Given the description of an element on the screen output the (x, y) to click on. 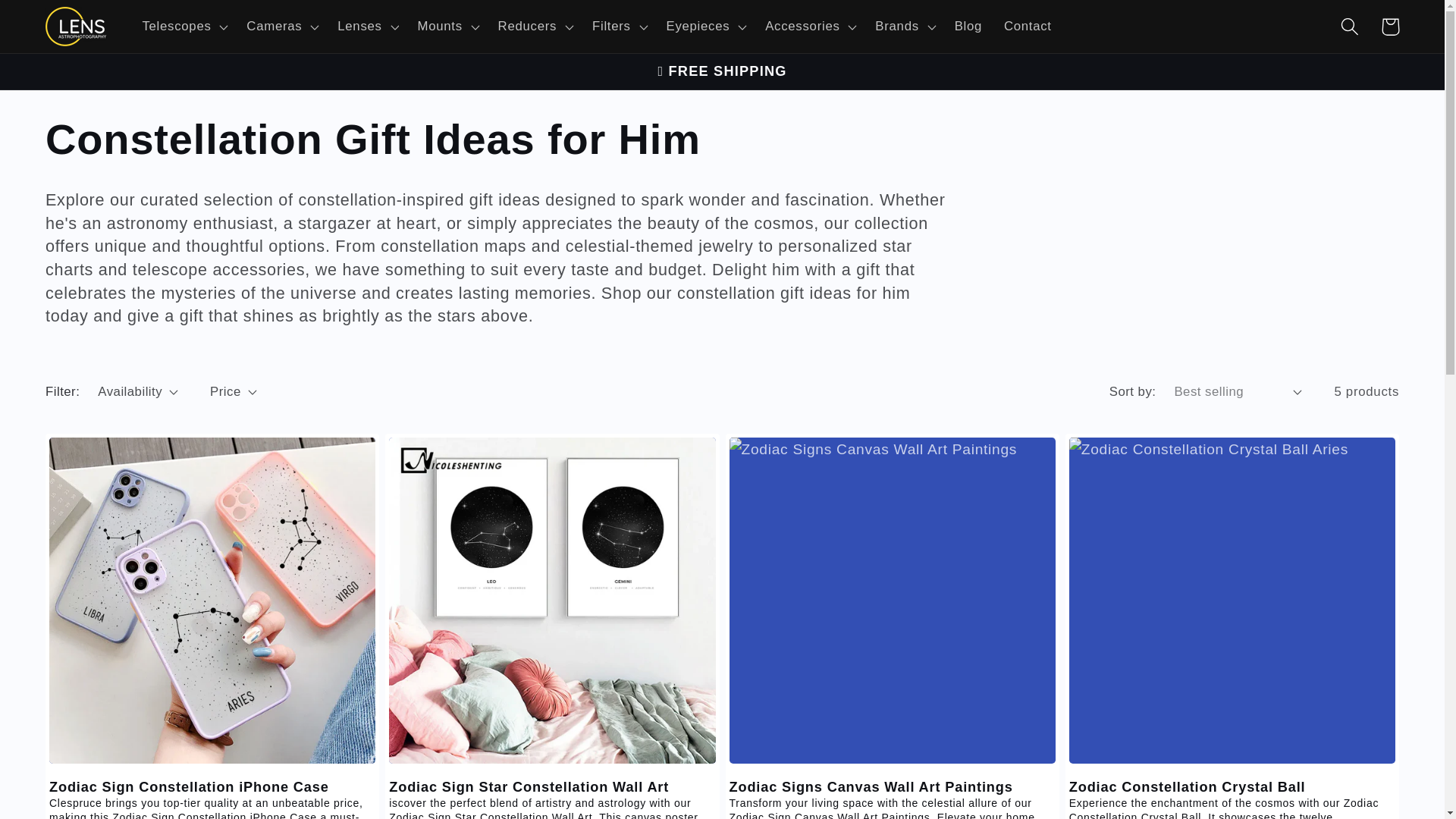
Skip to content (55, 20)
